Given the description of an element on the screen output the (x, y) to click on. 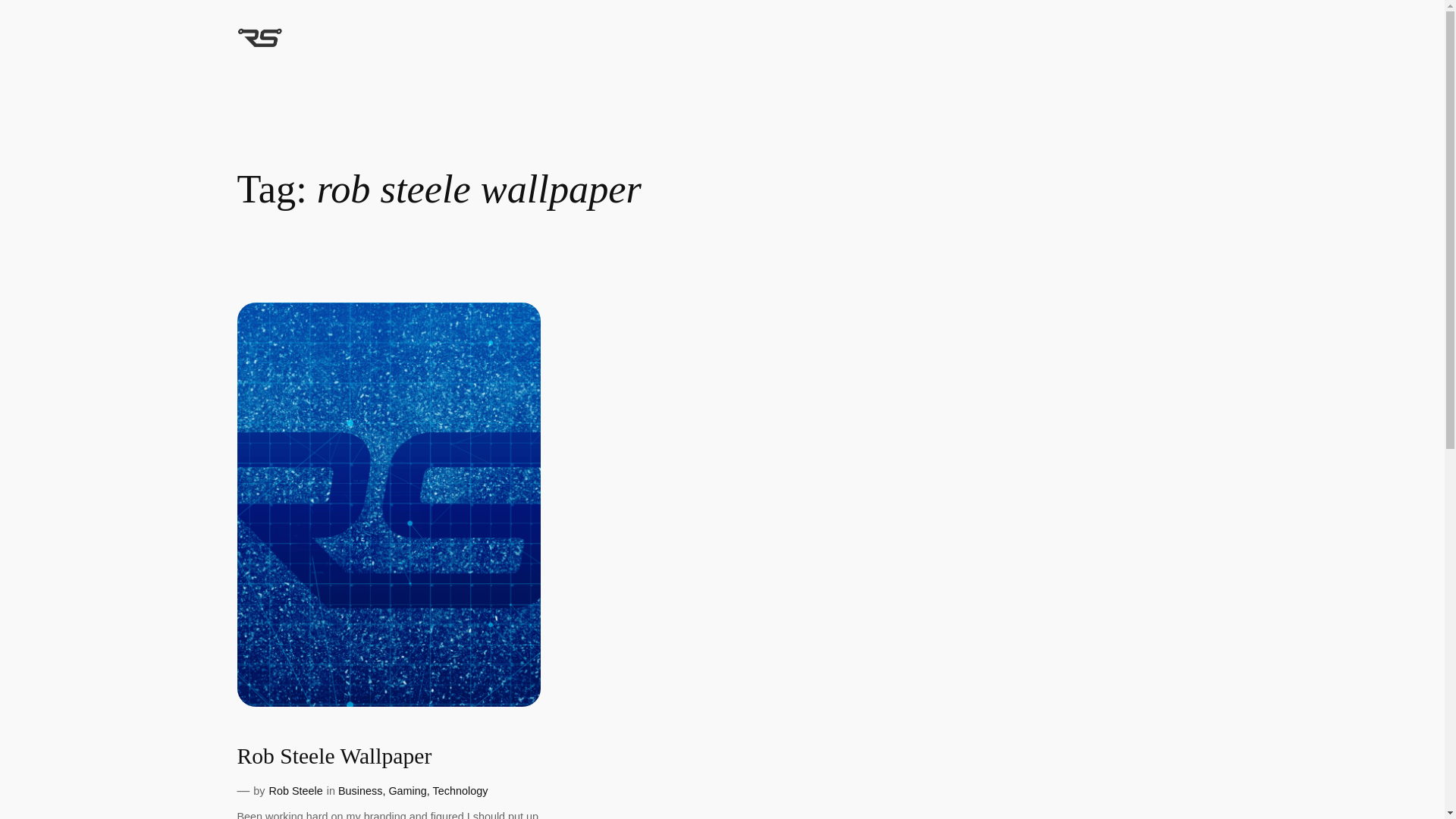
Rob Steele Wallpaper (332, 756)
Rob Steele (296, 790)
Business (359, 790)
Technology (459, 790)
Gaming (407, 790)
